Given the description of an element on the screen output the (x, y) to click on. 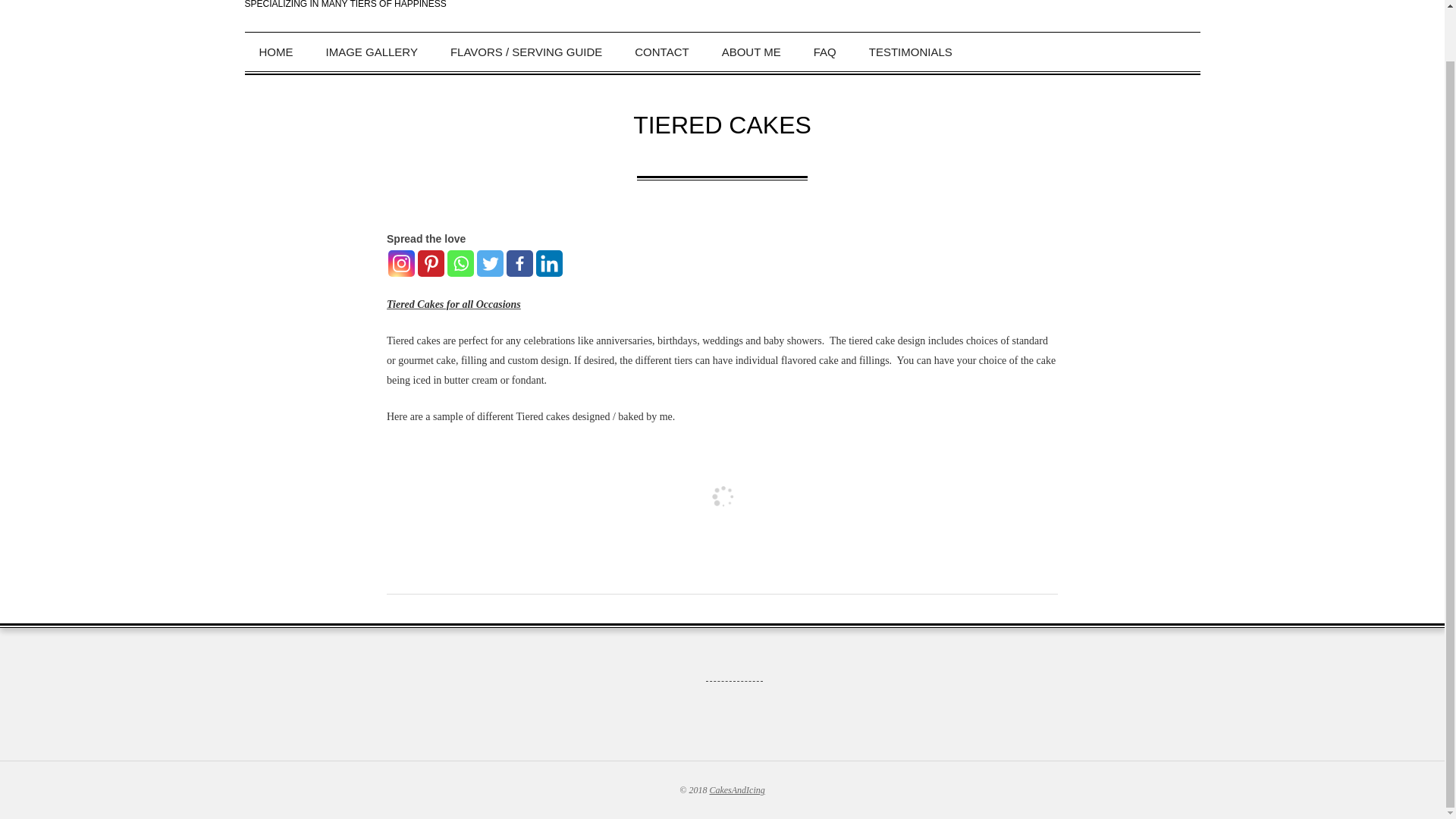
Twitter (490, 263)
Whatsapp (460, 263)
IMAGE GALLERY (373, 51)
HOME (277, 51)
Pinterest (430, 263)
ABOUT ME (753, 51)
Instagram (401, 263)
CONTACT (663, 51)
FAQ (826, 51)
Linkedin (548, 263)
